Given the description of an element on the screen output the (x, y) to click on. 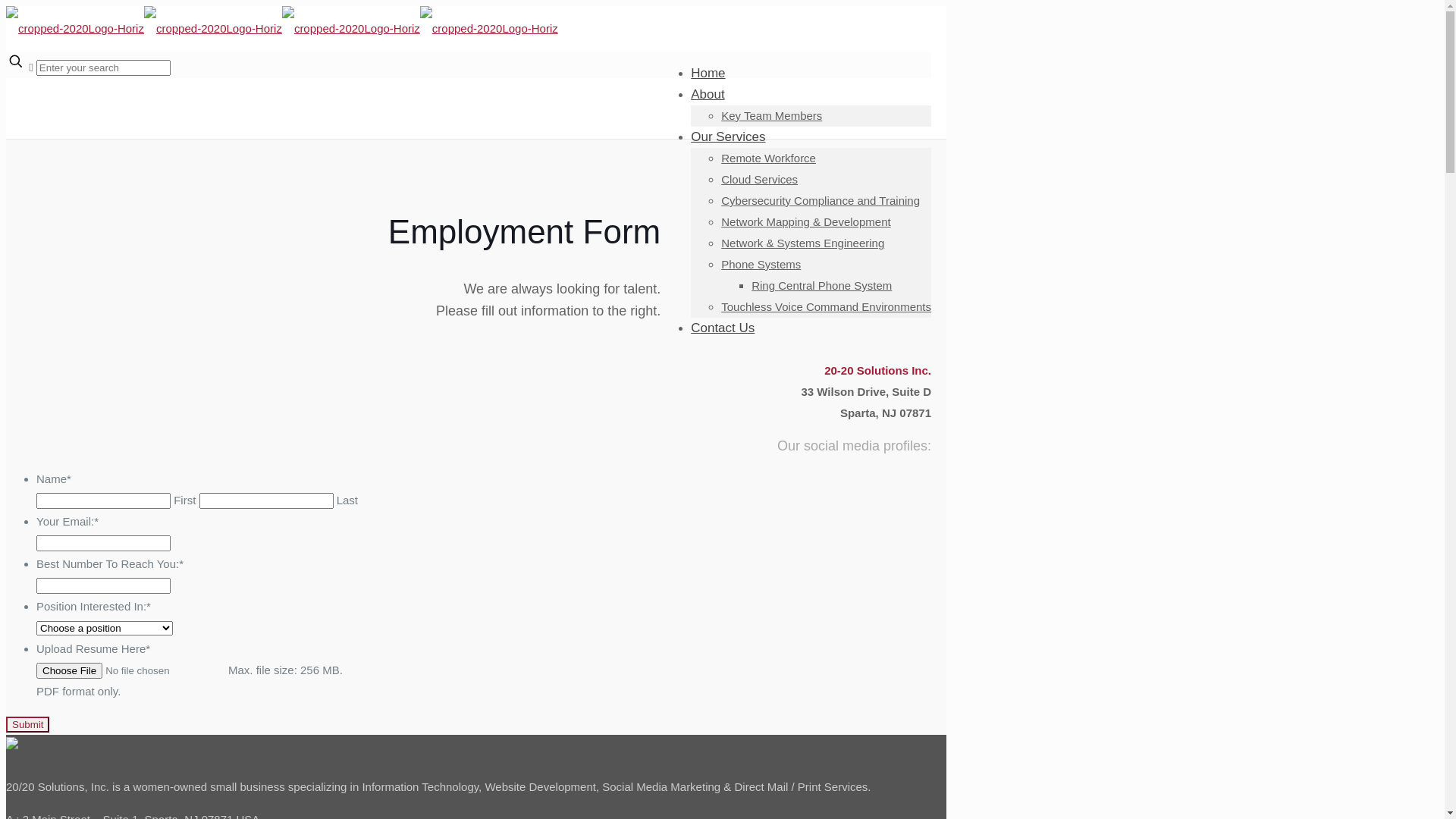
20/20 Technology Solutions Element type: hover (282, 28)
Home Element type: text (707, 72)
About Element type: text (707, 93)
Submit Element type: text (27, 724)
Touchless Voice Command Environments Element type: text (826, 306)
Remote Workforce Element type: text (768, 157)
Contact Us Element type: text (722, 327)
Cloud Services Element type: text (759, 178)
Network Mapping & Development Element type: text (805, 221)
Ring Central Phone System Element type: text (821, 285)
Cybersecurity Compliance and Training Element type: text (820, 200)
Our Services Element type: text (727, 136)
Phone Systems Element type: text (760, 263)
Key Team Members Element type: text (771, 115)
Network & Systems Engineering Element type: text (802, 242)
